Given the description of an element on the screen output the (x, y) to click on. 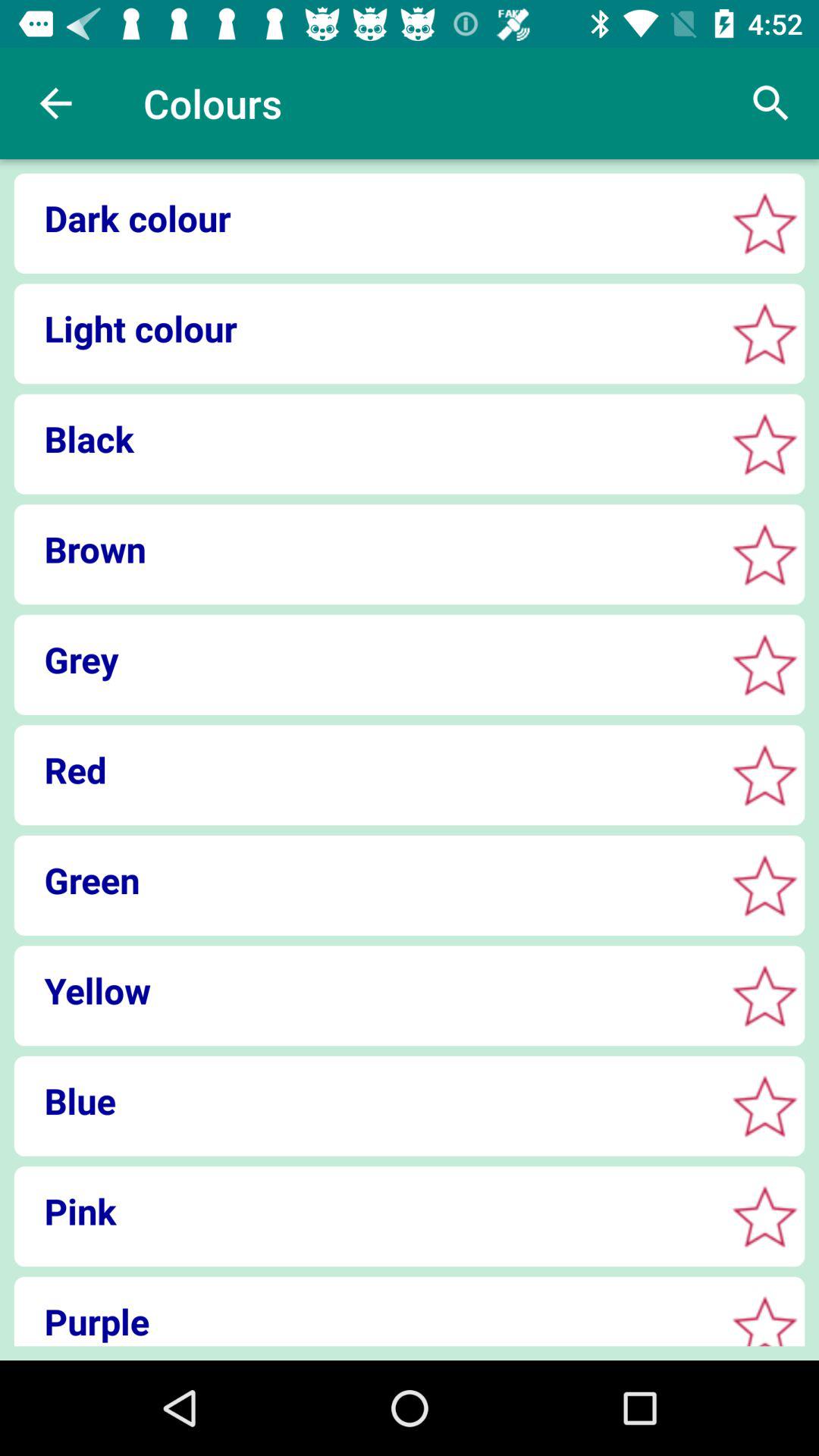
turn on blue (364, 1100)
